Given the description of an element on the screen output the (x, y) to click on. 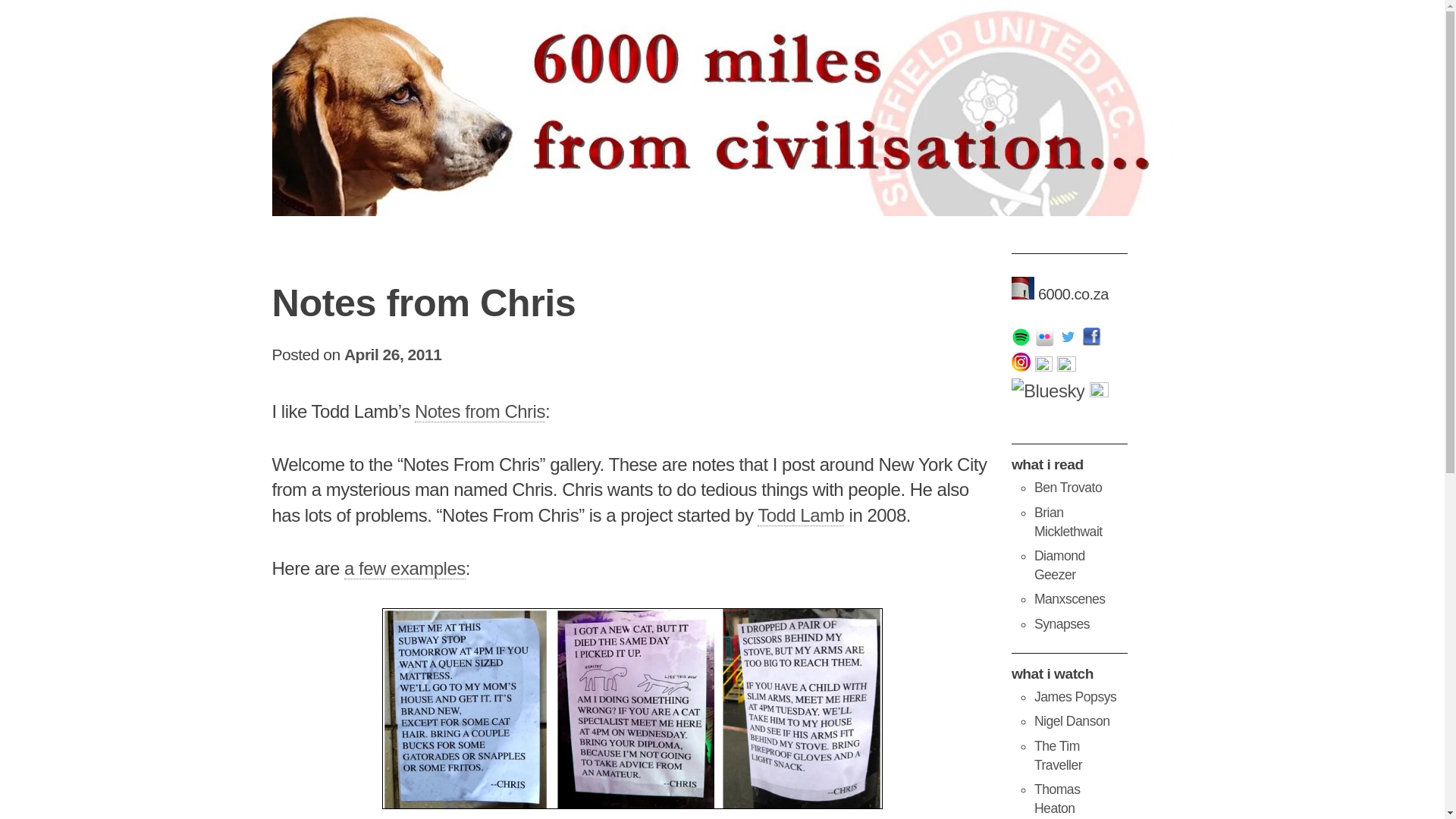
James Popsys (1074, 696)
Eclectic mix of social commentary (1067, 521)
Todd Lamb (800, 515)
Link (479, 411)
Daily tales of London (1058, 564)
Photography advice from the UK (1074, 696)
Link (404, 568)
Diamond Geezer (1058, 564)
Brian Micklethwait (1067, 521)
